Given the description of an element on the screen output the (x, y) to click on. 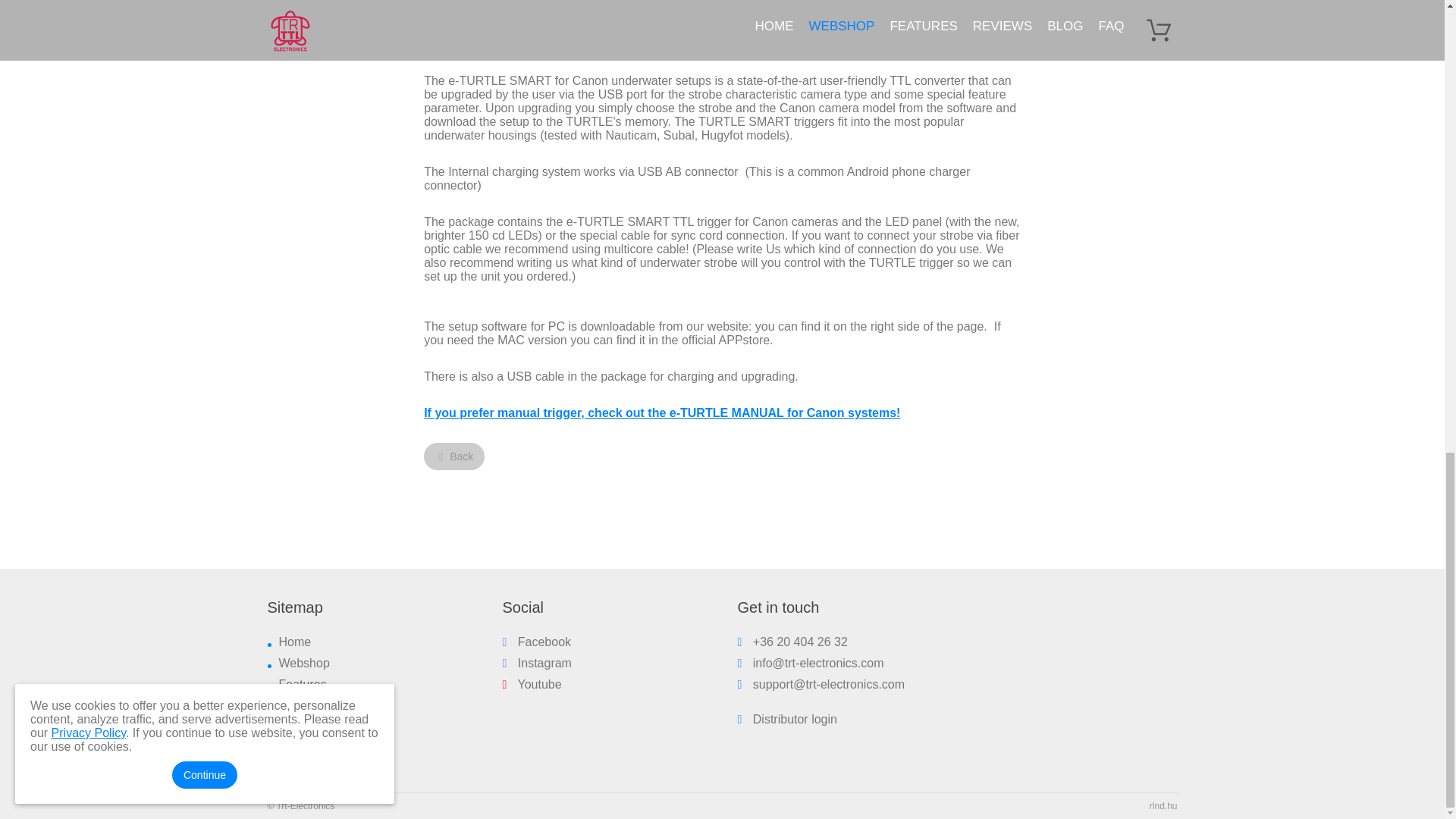
Reviews (301, 705)
Instagram (536, 662)
Home (295, 641)
Blog (290, 726)
FAQ (290, 748)
Webshop (304, 662)
Youtube (531, 684)
Back (453, 456)
Facebook (536, 641)
Features (302, 684)
